Given the description of an element on the screen output the (x, y) to click on. 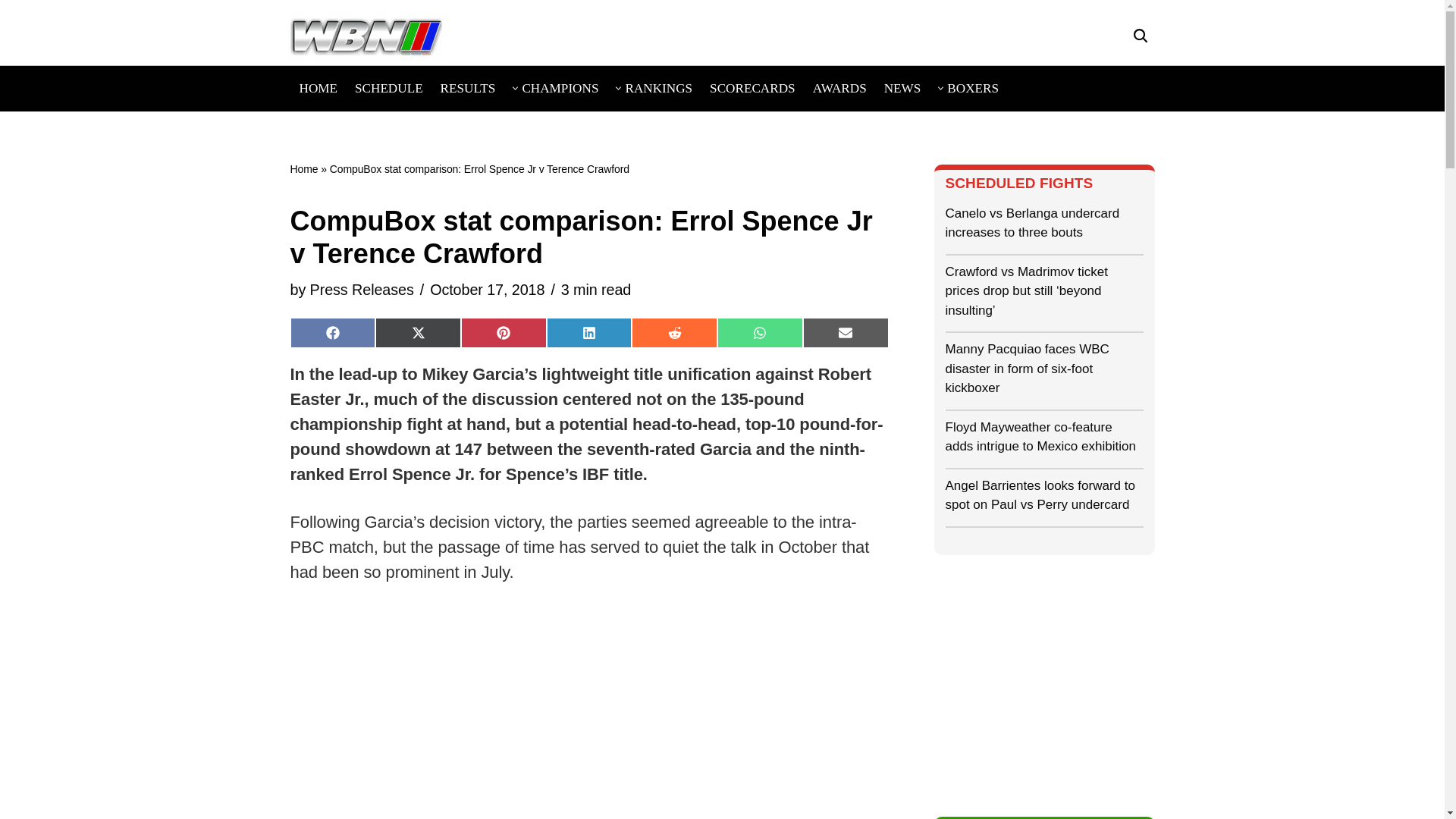
SCORECARDS (752, 87)
AWARDS (839, 87)
RANKINGS (658, 87)
Skip to content (11, 37)
CHAMPIONS (559, 87)
SCHEDULE (389, 87)
Posts by Press Releases (361, 289)
HOME (317, 87)
NEWS (902, 87)
BOXERS (972, 87)
